Given the description of an element on the screen output the (x, y) to click on. 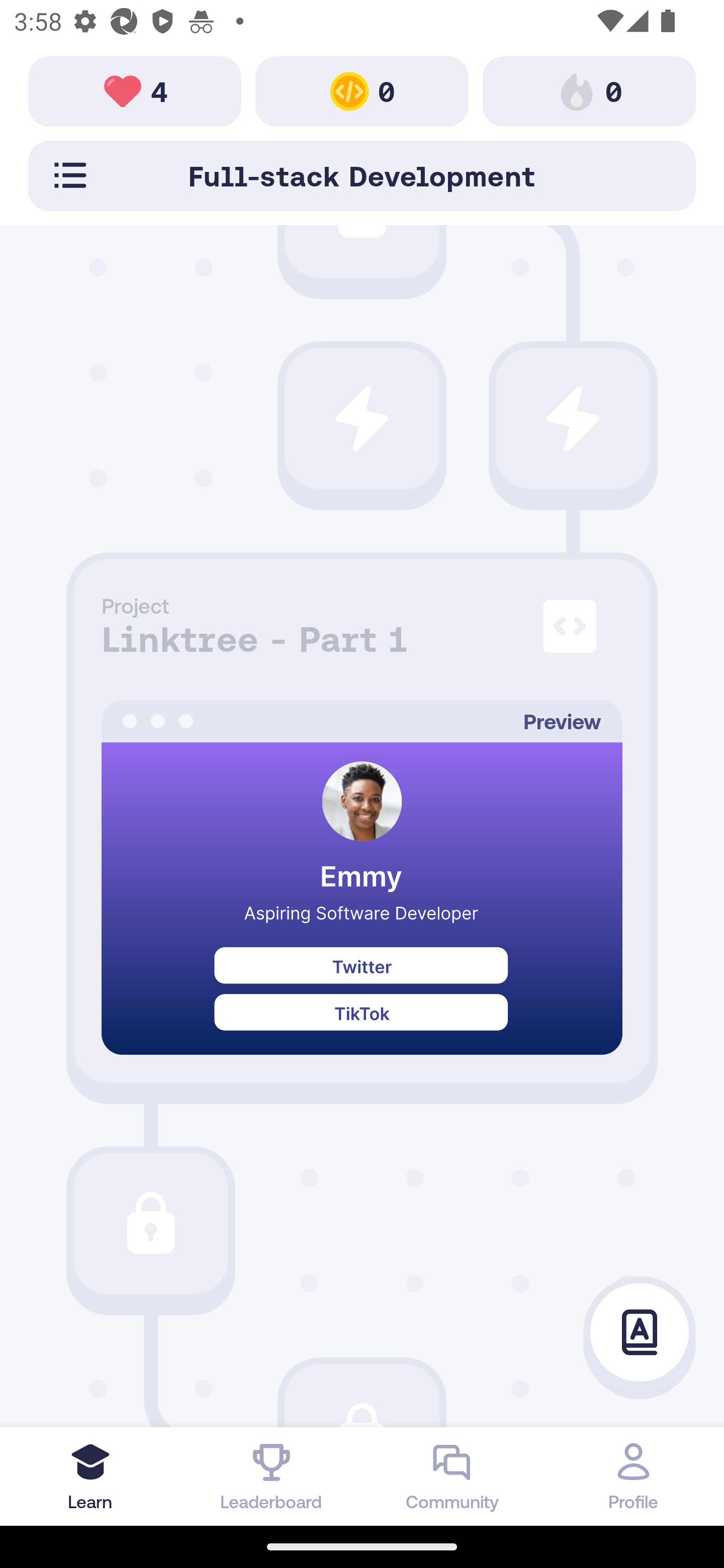
Path Toolbar Image 4 (134, 90)
Path Toolbar Image 0 (361, 90)
Path Toolbar Image 0 (588, 90)
Path Toolbar Selector Full-stack Development (361, 175)
Path Icon (361, 418)
Path Icon (572, 418)
Path Icon (150, 1223)
Glossary Icon (639, 1332)
Leaderboard (271, 1475)
Community (452, 1475)
Profile (633, 1475)
